Given the description of an element on the screen output the (x, y) to click on. 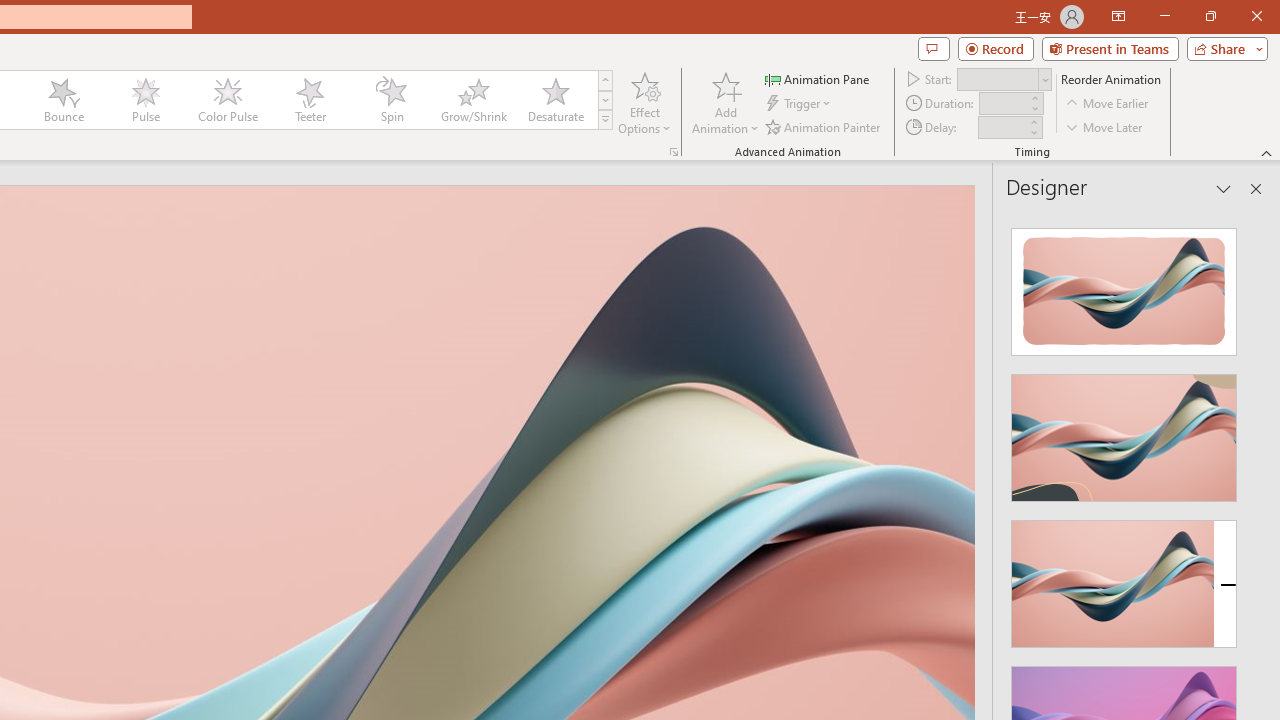
Pulse (145, 100)
Spin (391, 100)
Effect Options (644, 102)
Animation Delay (1002, 127)
Grow/Shrink (473, 100)
Animation Styles (605, 120)
Add Animation (725, 102)
Color Pulse (227, 100)
